Given the description of an element on the screen output the (x, y) to click on. 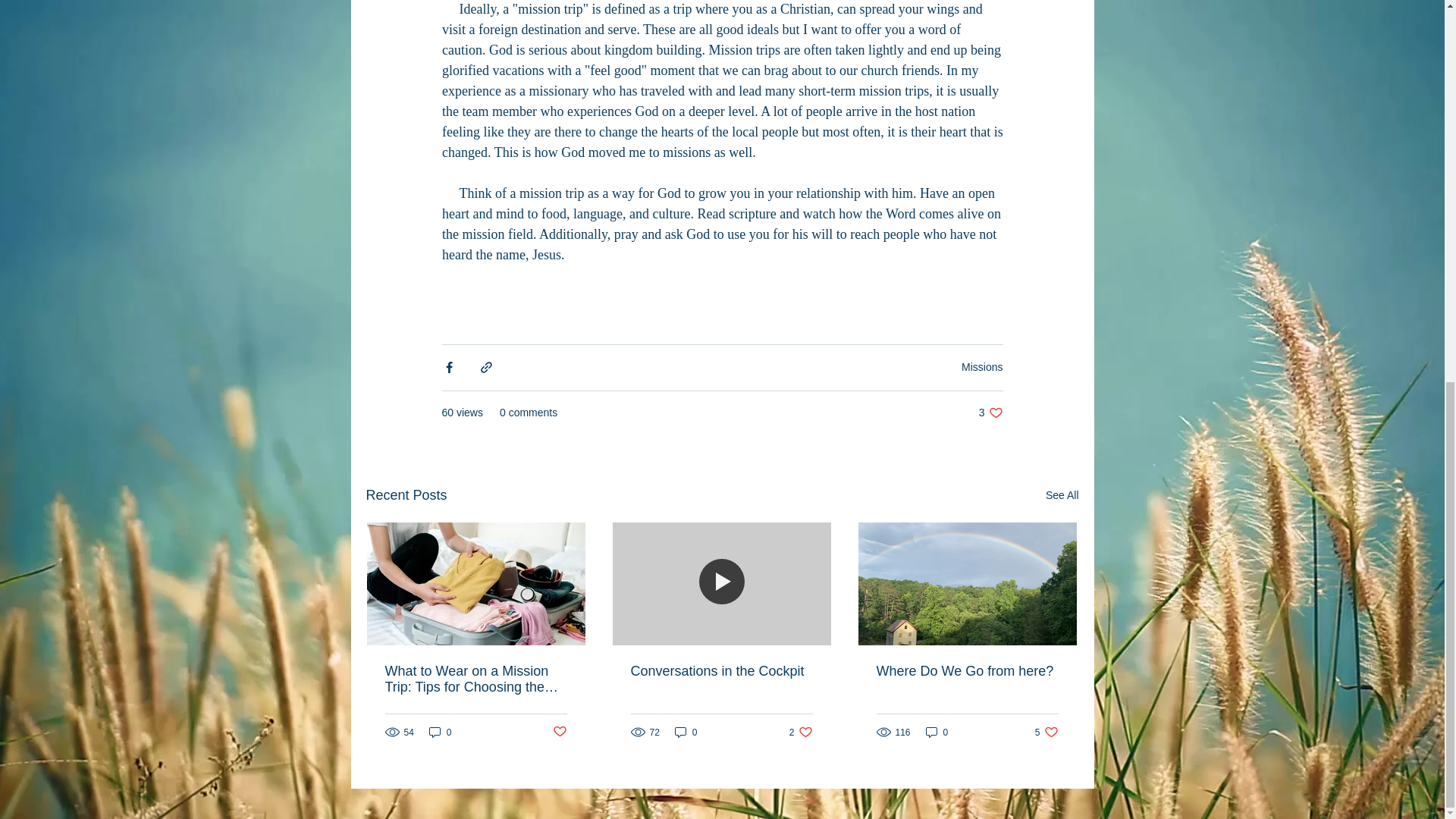
Where Do We Go from here? (967, 671)
0 (440, 731)
Conversations in the Cockpit (721, 671)
0 (937, 731)
Post not marked as liked (1046, 731)
See All (558, 731)
Missions (1061, 495)
0 (981, 367)
